Given the description of an element on the screen output the (x, y) to click on. 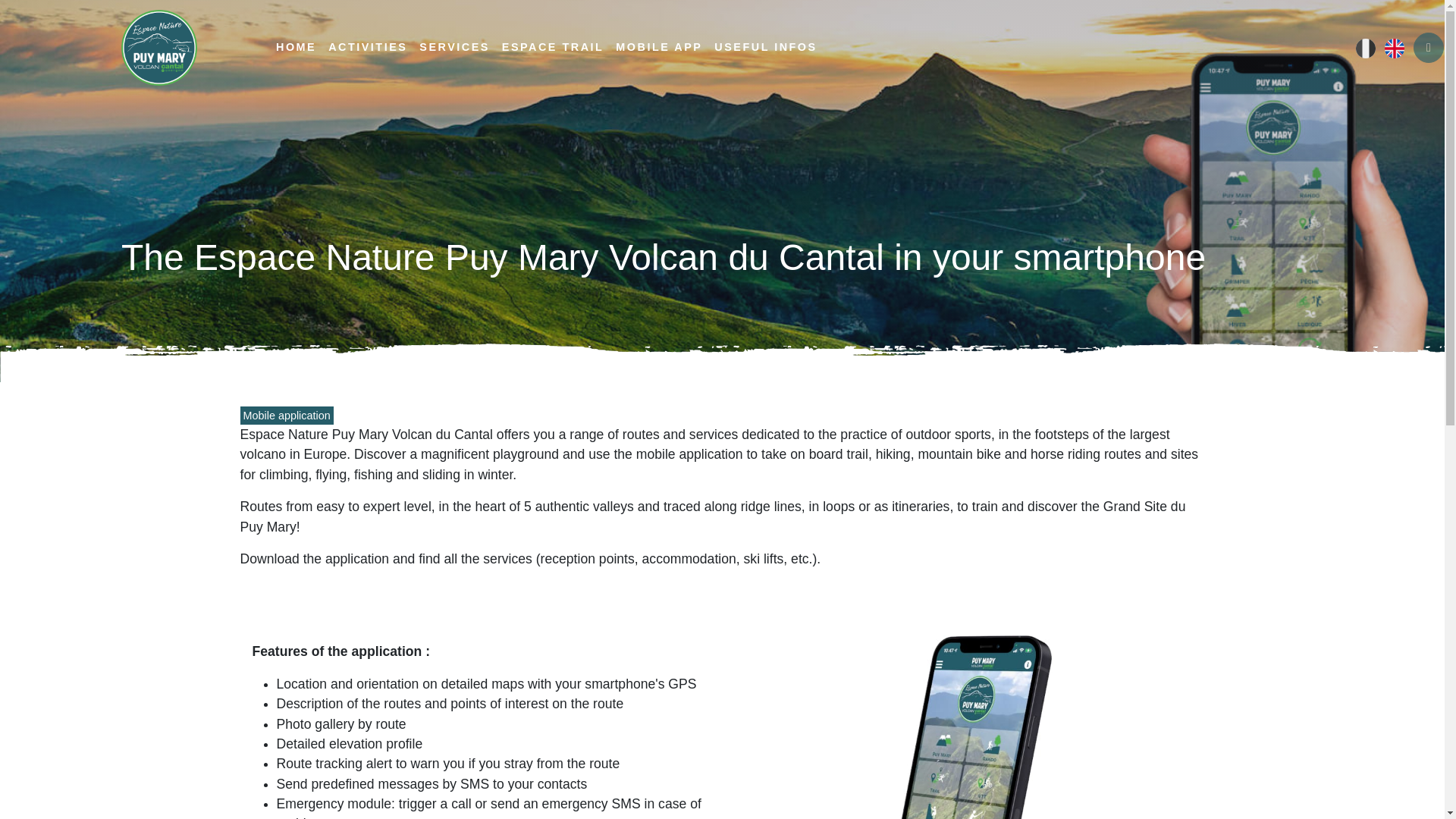
SERVICES (454, 47)
ESPACE TRAIL (553, 47)
HOME (295, 47)
USEFUL INFOS (764, 47)
ACTIVITIES (367, 47)
MOBILE APP (658, 47)
Log in (1428, 47)
